Given the description of an element on the screen output the (x, y) to click on. 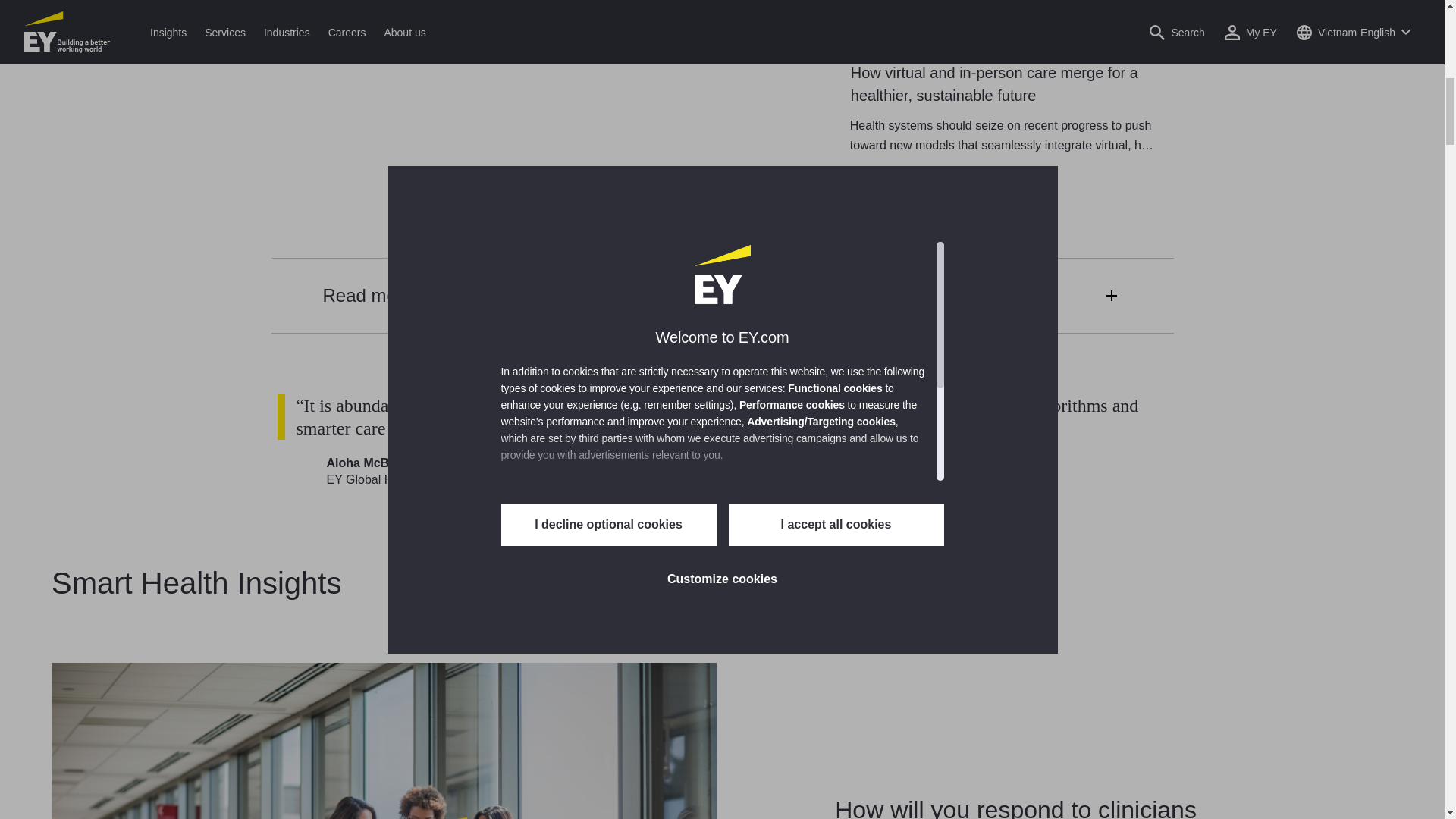
Read more (721, 294)
Nurses speak with doctor looking at digital tablet (383, 740)
